Given the description of an element on the screen output the (x, y) to click on. 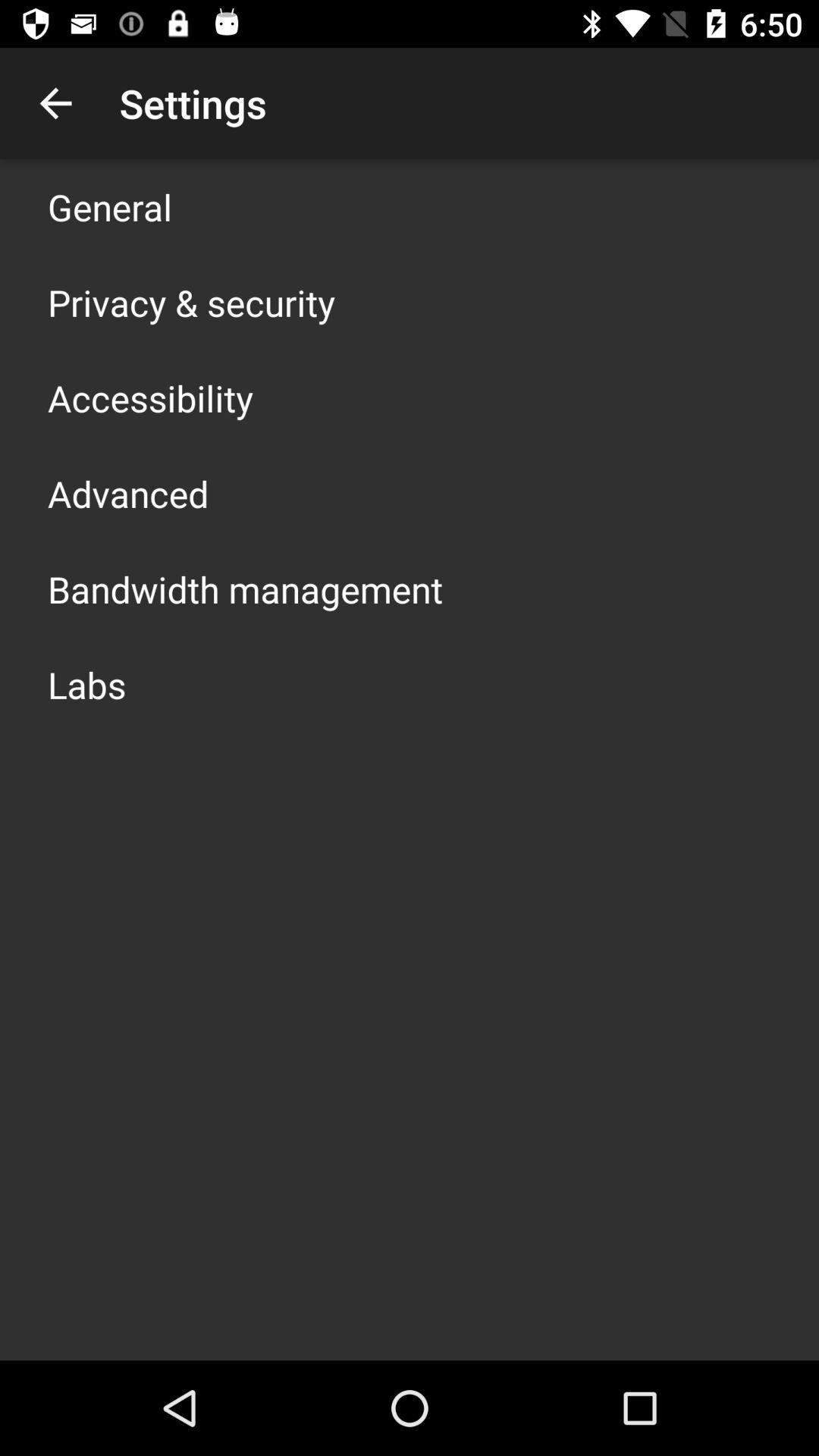
scroll to the labs (86, 684)
